Given the description of an element on the screen output the (x, y) to click on. 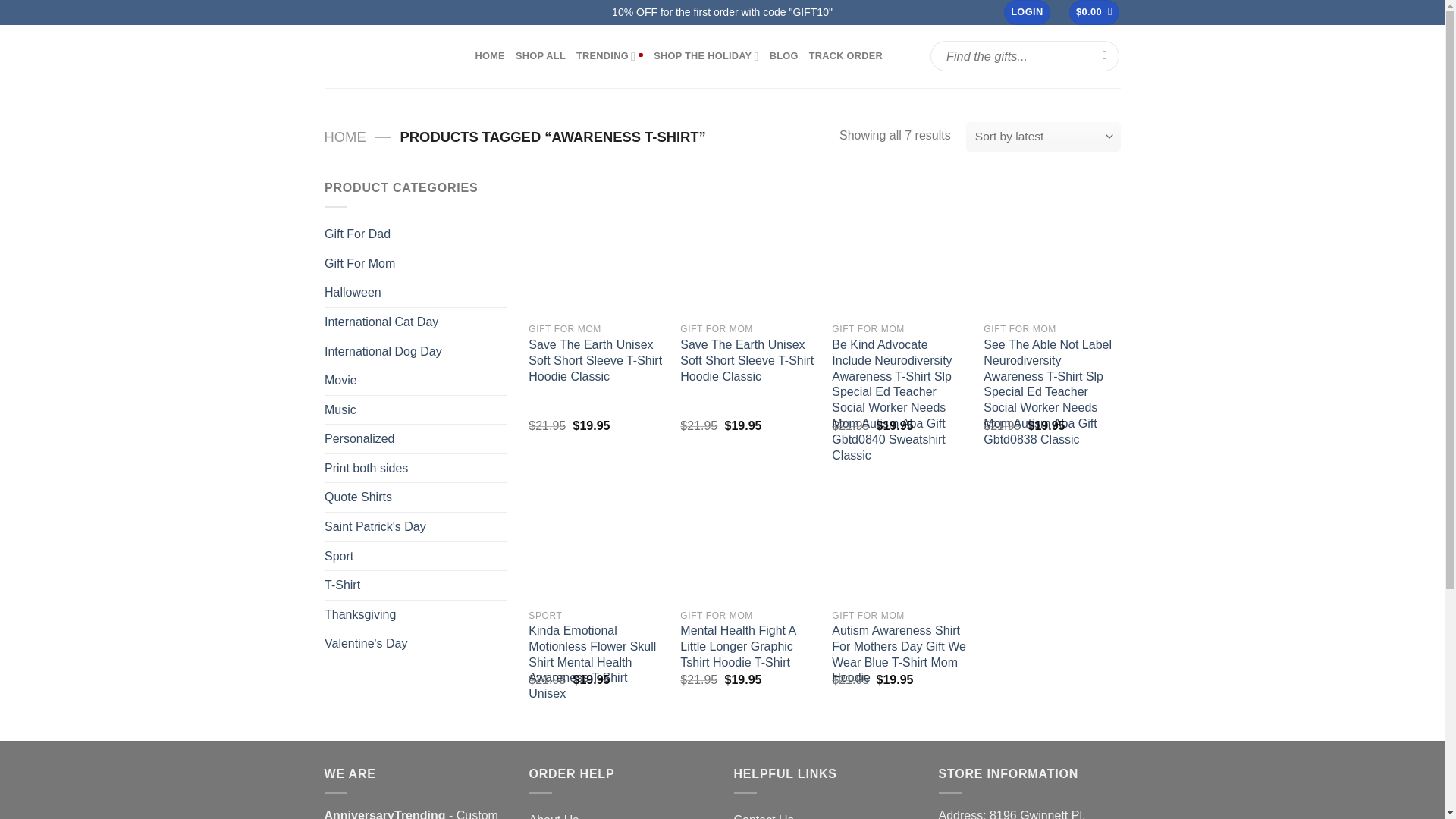
Cart (1093, 12)
International Dog Day (415, 350)
Movie (415, 380)
SHOP THE HOLIDAY (705, 56)
Sport (415, 555)
Search (1105, 55)
BLOG (783, 55)
TRACK ORDER (845, 55)
Gift For Dad (415, 234)
SHOP ALL (540, 55)
